Given the description of an element on the screen output the (x, y) to click on. 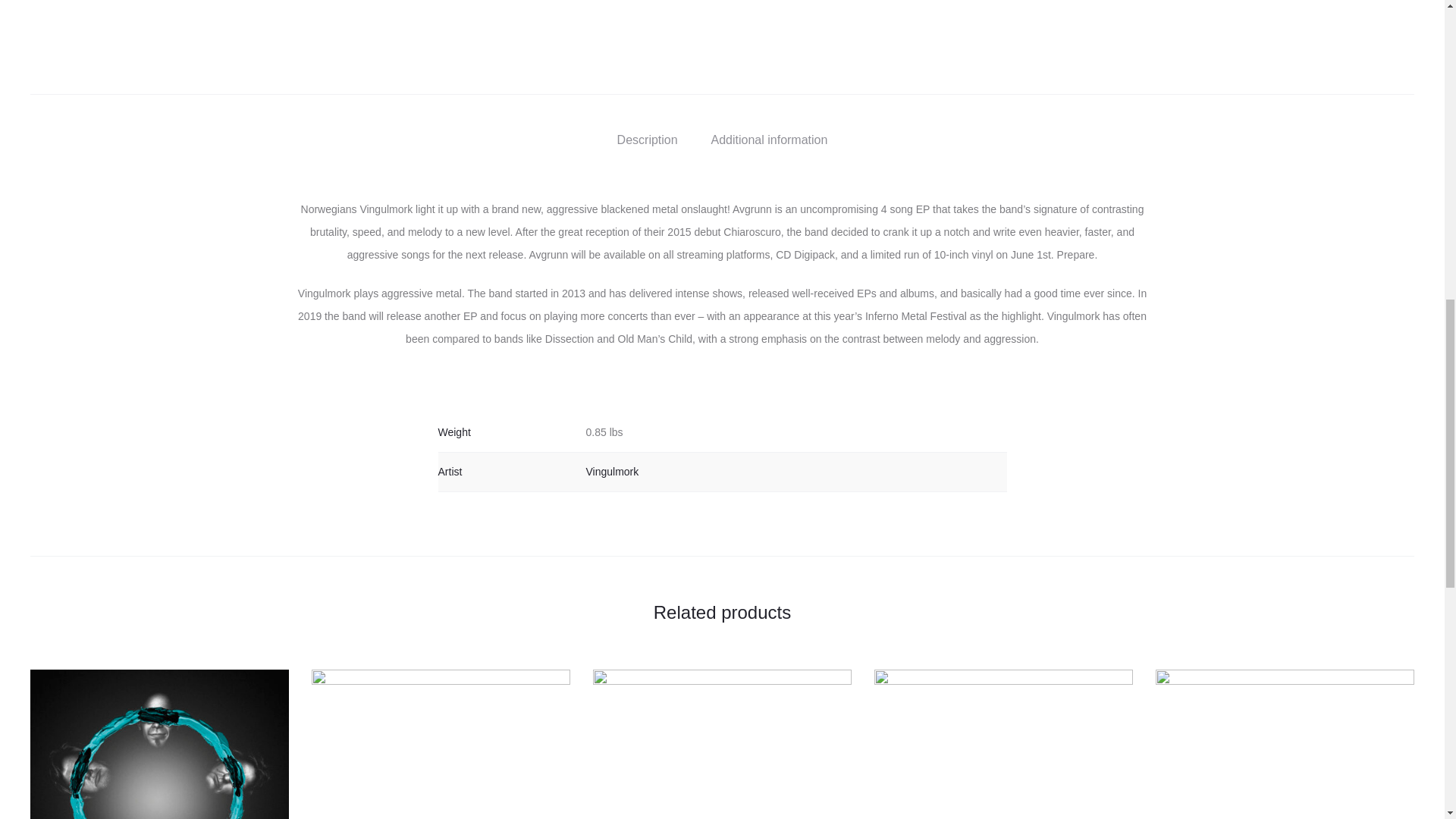
Additional information (769, 139)
Description (647, 139)
Vingulmork (612, 471)
